Given the description of an element on the screen output the (x, y) to click on. 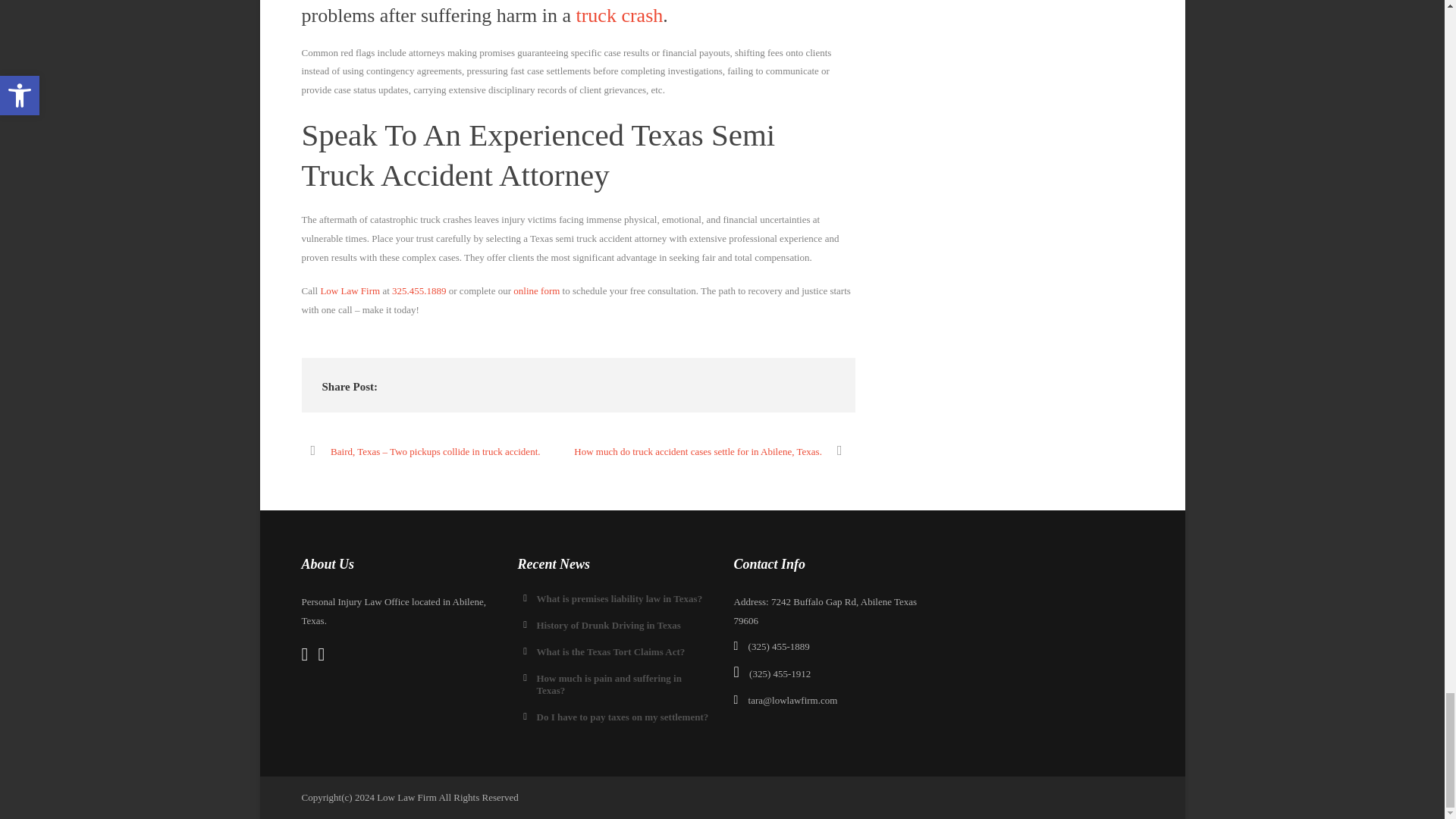
truck crash (618, 15)
Low Law Firm (350, 290)
